Given the description of an element on the screen output the (x, y) to click on. 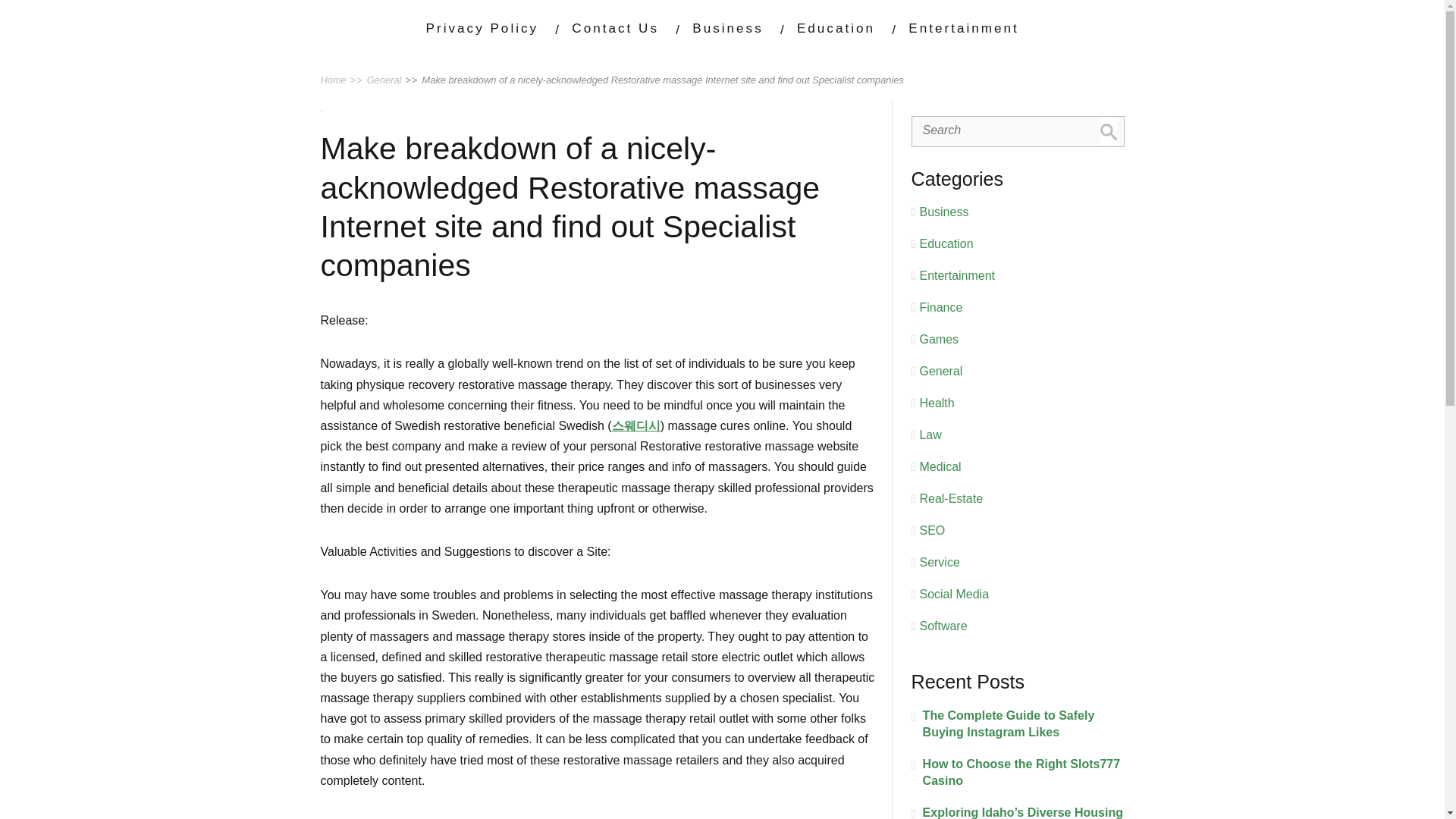
SEO (931, 530)
Business (943, 211)
Education (945, 243)
The Complete Guide to Safely Buying Instagram Likes (1017, 724)
General (383, 79)
Contact Us (615, 27)
Social Media (953, 594)
Entertainment (963, 27)
General (940, 370)
Software (942, 625)
